Given the description of an element on the screen output the (x, y) to click on. 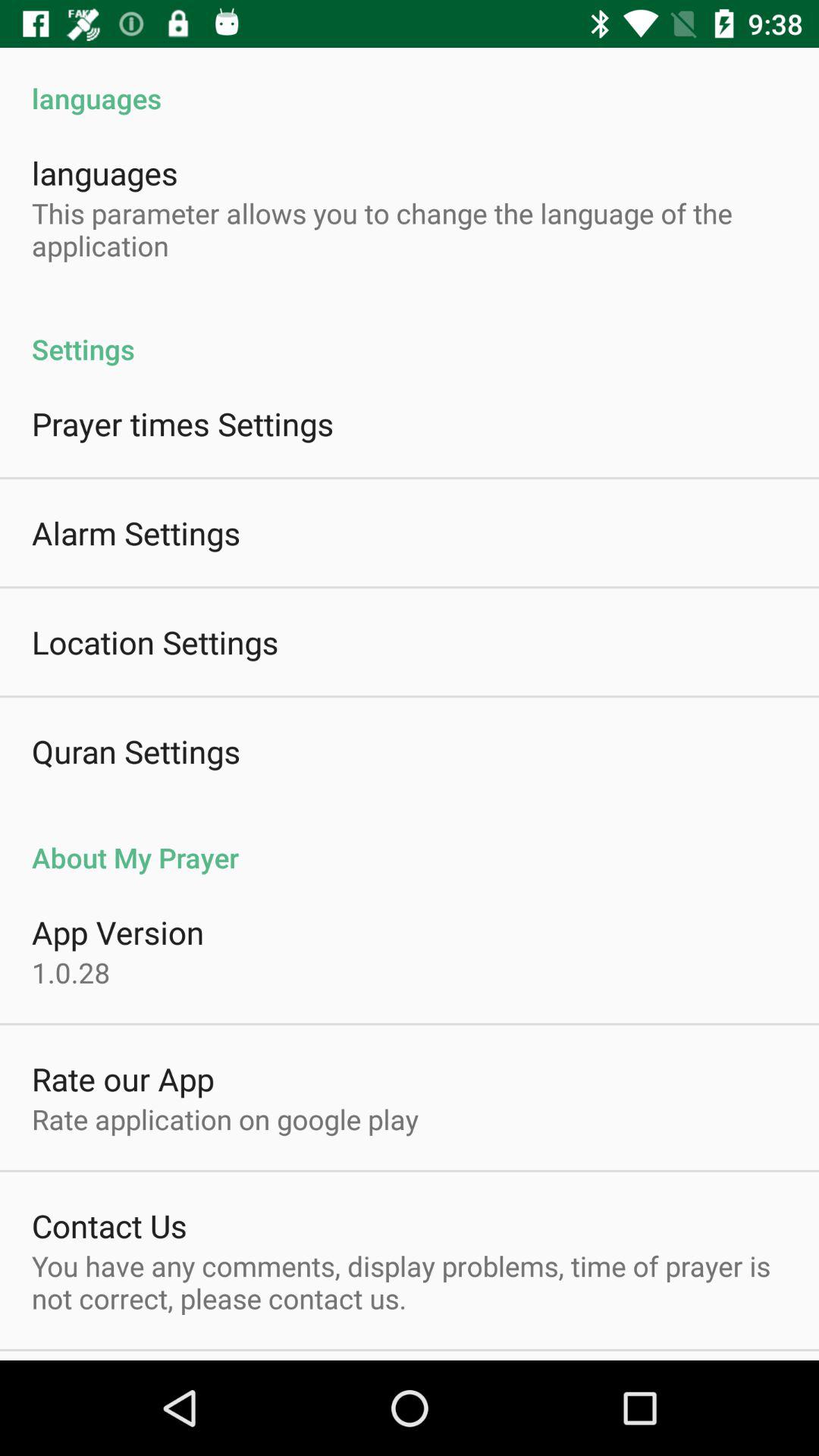
select the icon above rate our app item (70, 972)
